Given the description of an element on the screen output the (x, y) to click on. 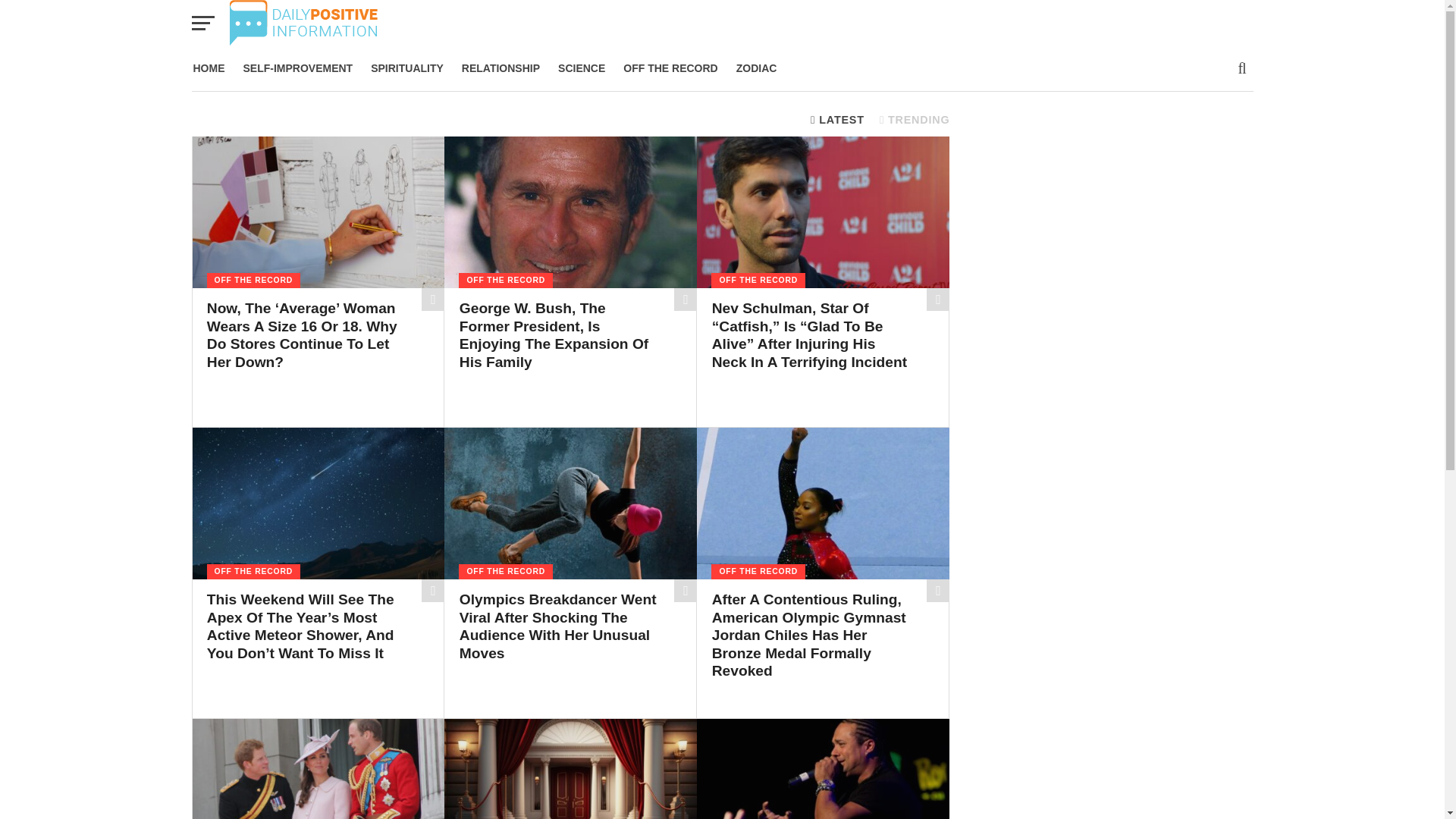
RELATIONSHIP (500, 67)
TRENDING (914, 119)
SPIRITUALITY (406, 67)
ZODIAC (756, 67)
HOME (207, 67)
OFF THE RECORD (670, 67)
SCIENCE (581, 67)
SELF-IMPROVEMENT (296, 67)
LATEST (837, 119)
